Given the description of an element on the screen output the (x, y) to click on. 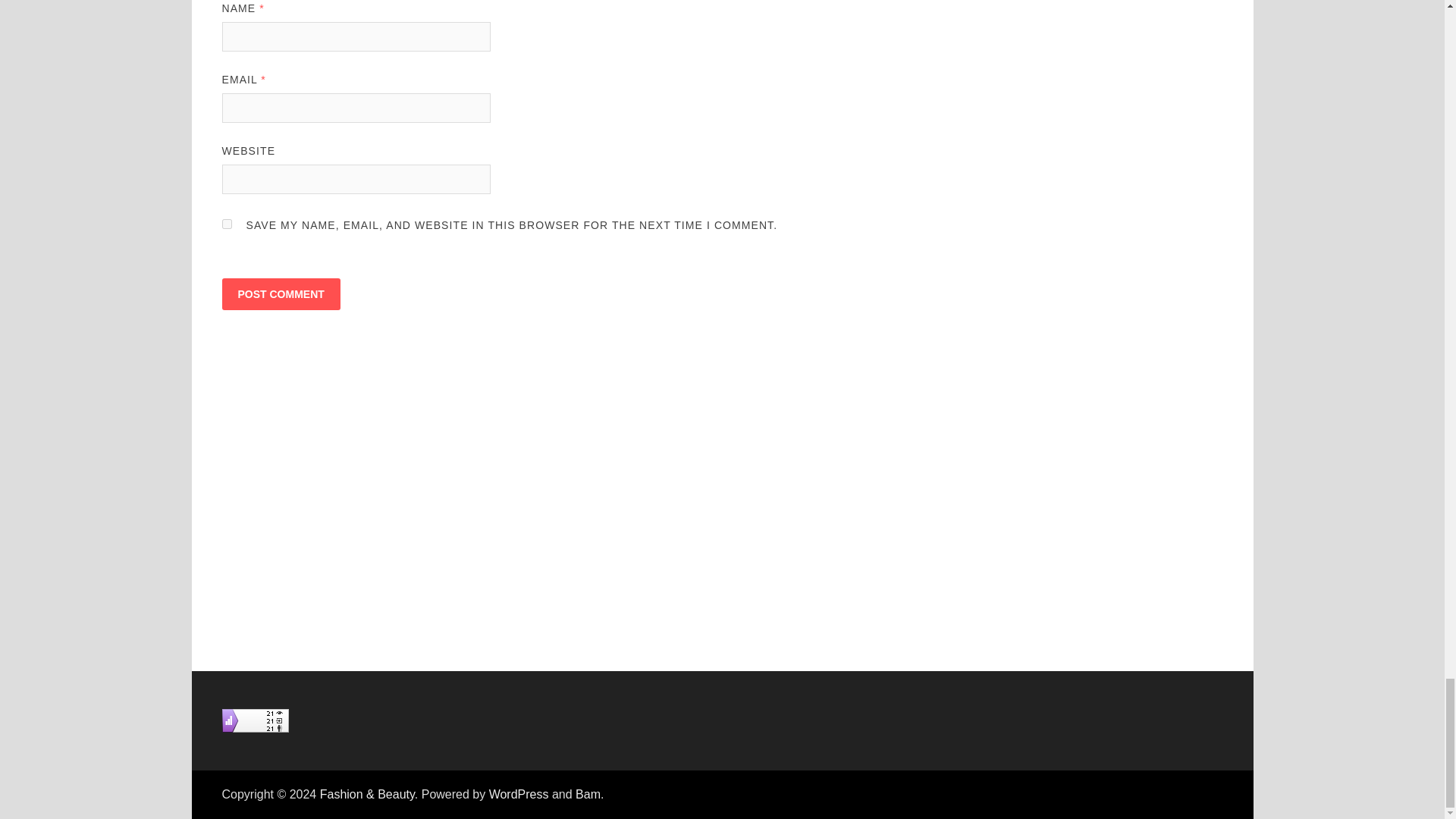
Post Comment (280, 294)
WordPress (518, 793)
yes (226, 224)
Bam (587, 793)
Post Comment (280, 294)
